Given the description of an element on the screen output the (x, y) to click on. 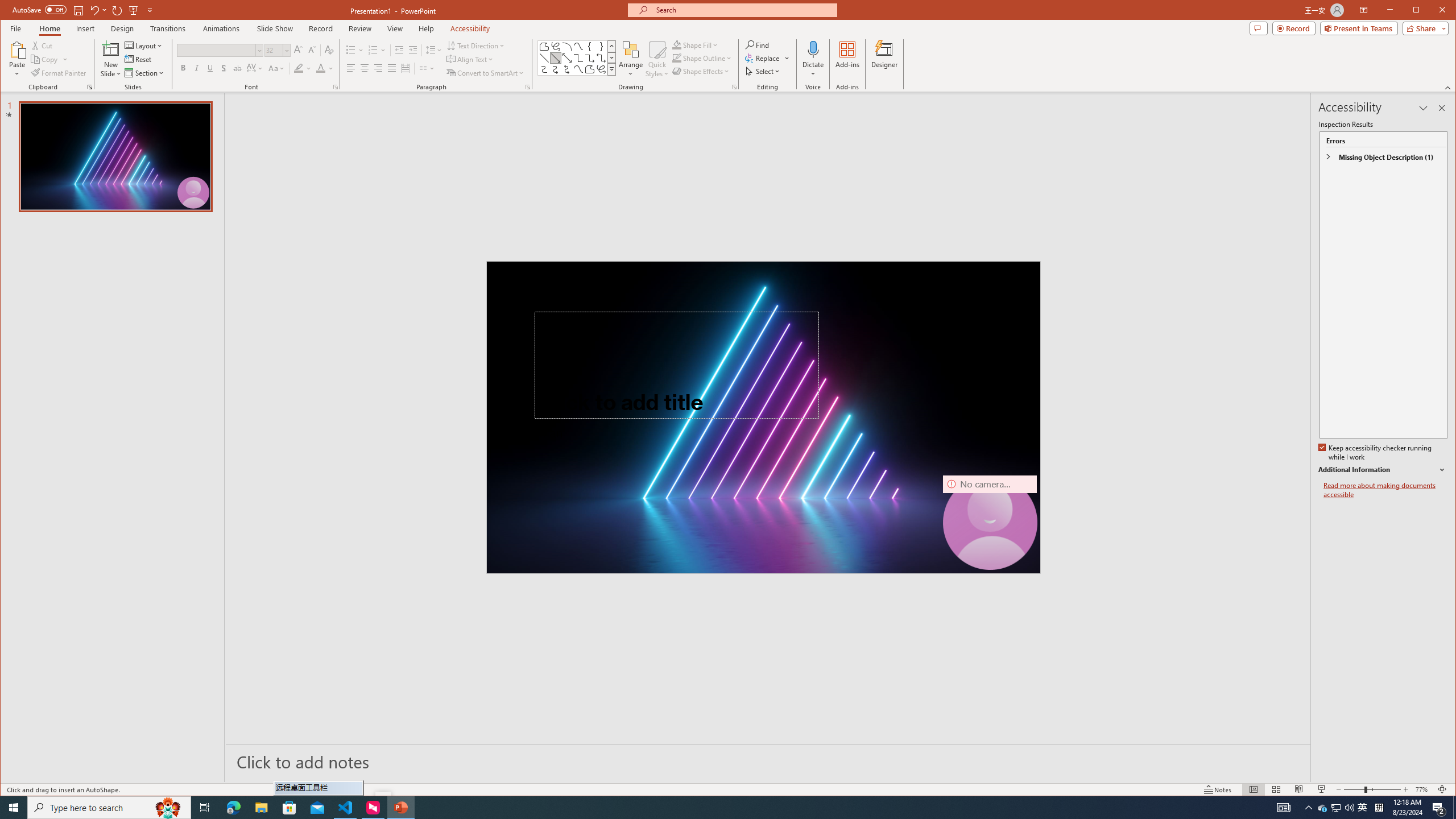
Connector: Curved Double-Arrow (567, 69)
